Given the description of an element on the screen output the (x, y) to click on. 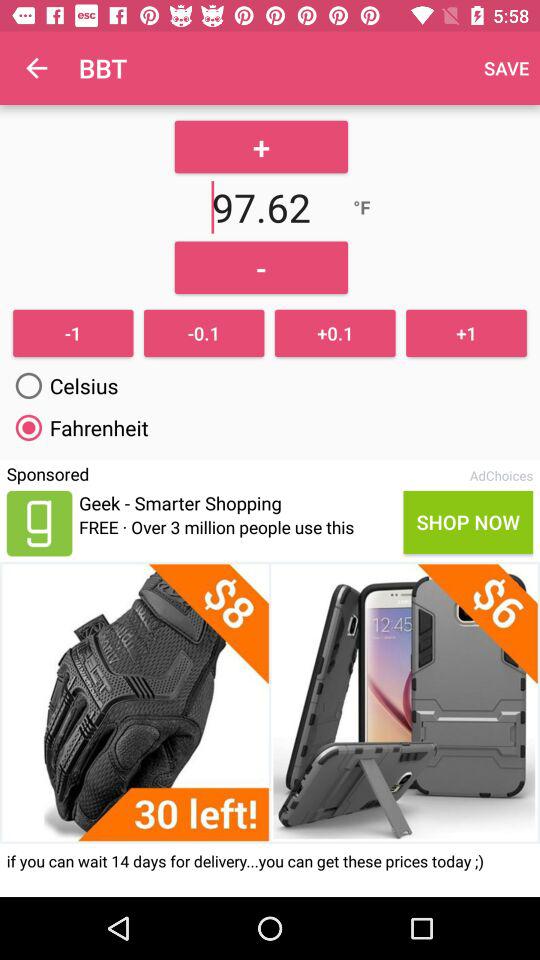
click to view advertisement page (270, 702)
